Given the description of an element on the screen output the (x, y) to click on. 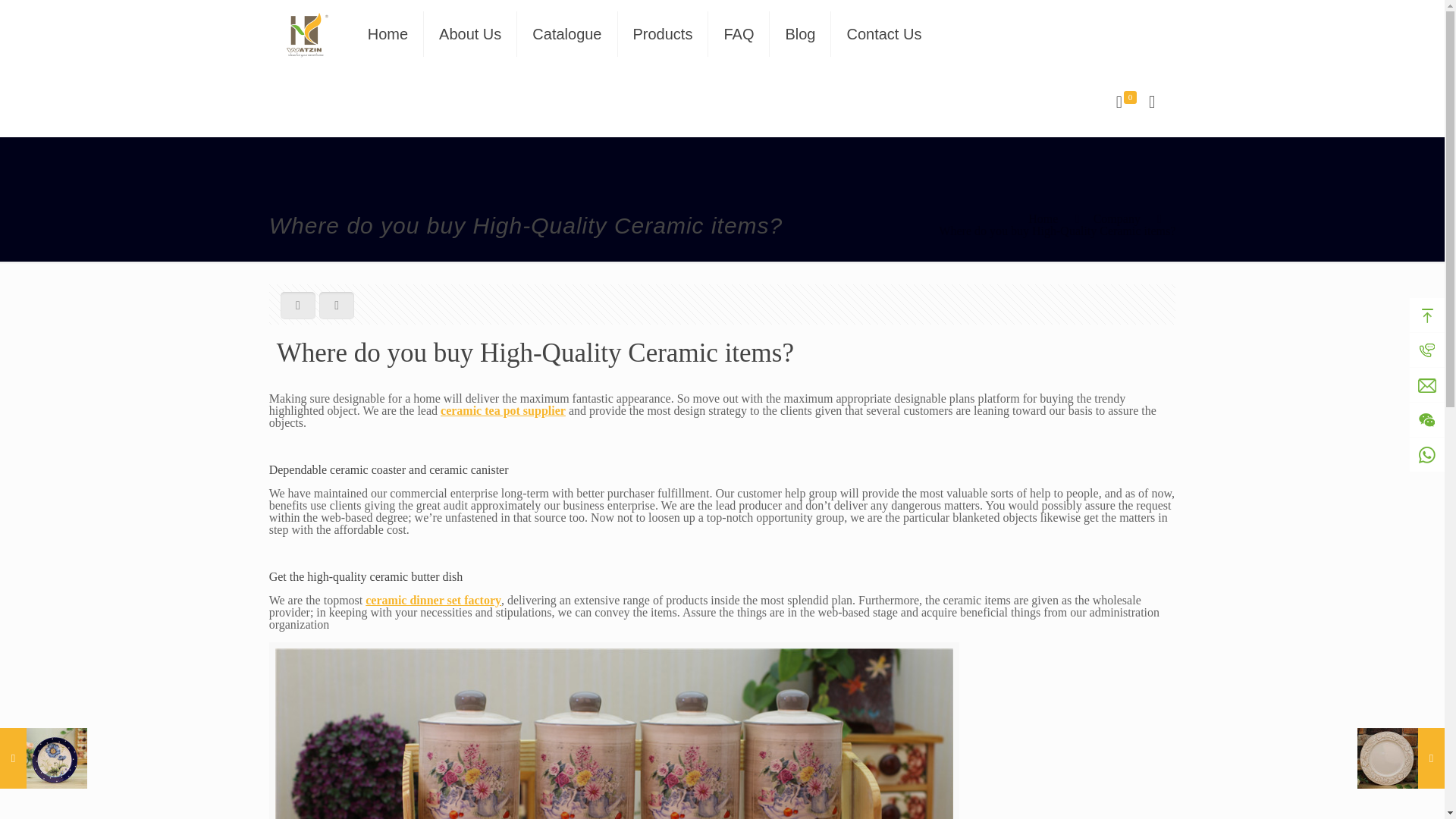
FAQ (738, 33)
Contact Us (883, 33)
Home (1042, 218)
About Us (469, 33)
Catalogue (566, 33)
Products (662, 33)
Company (1116, 218)
Home (387, 33)
Blog (800, 33)
Home (387, 33)
